Given the description of an element on the screen output the (x, y) to click on. 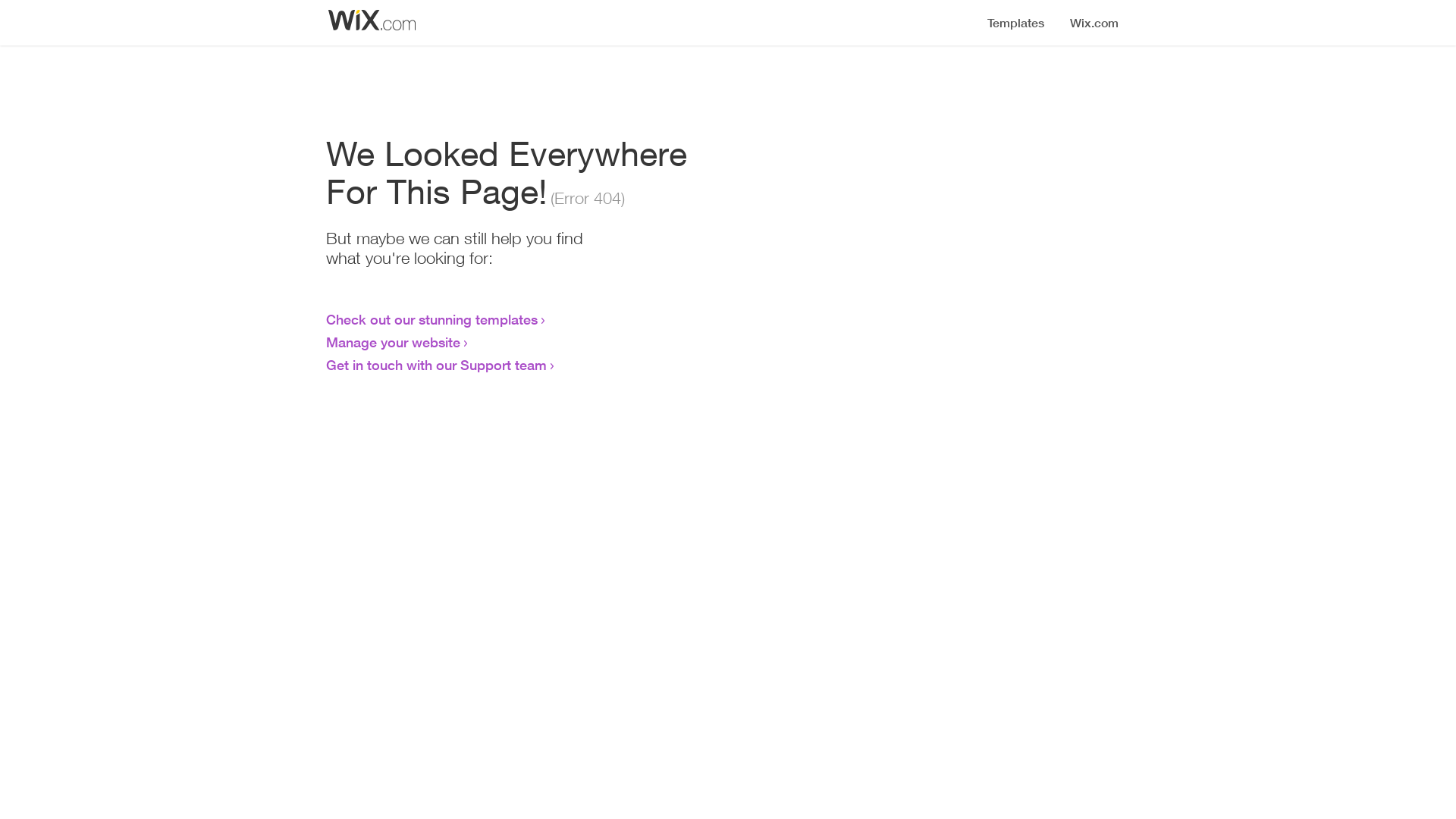
Manage your website Element type: text (393, 341)
Get in touch with our Support team Element type: text (436, 364)
Check out our stunning templates Element type: text (431, 318)
